Given the description of an element on the screen output the (x, y) to click on. 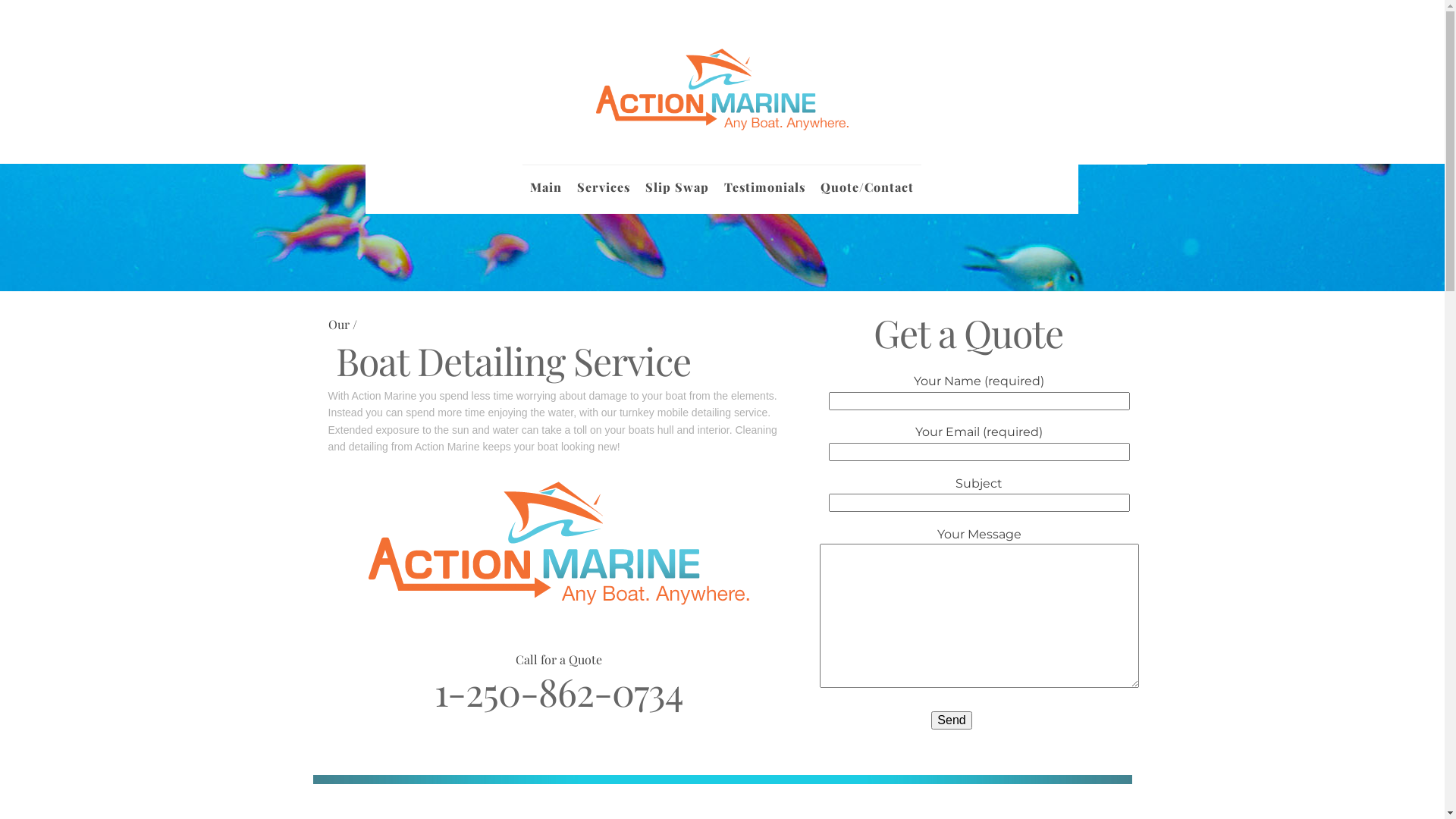
Send Element type: text (951, 720)
Testimonials Element type: text (764, 180)
Main Element type: text (545, 180)
Quote/Contact Element type: text (866, 180)
Services Element type: text (603, 180)
Slip Swap Element type: text (677, 180)
1-250-862-0734 Element type: text (557, 691)
